Given the description of an element on the screen output the (x, y) to click on. 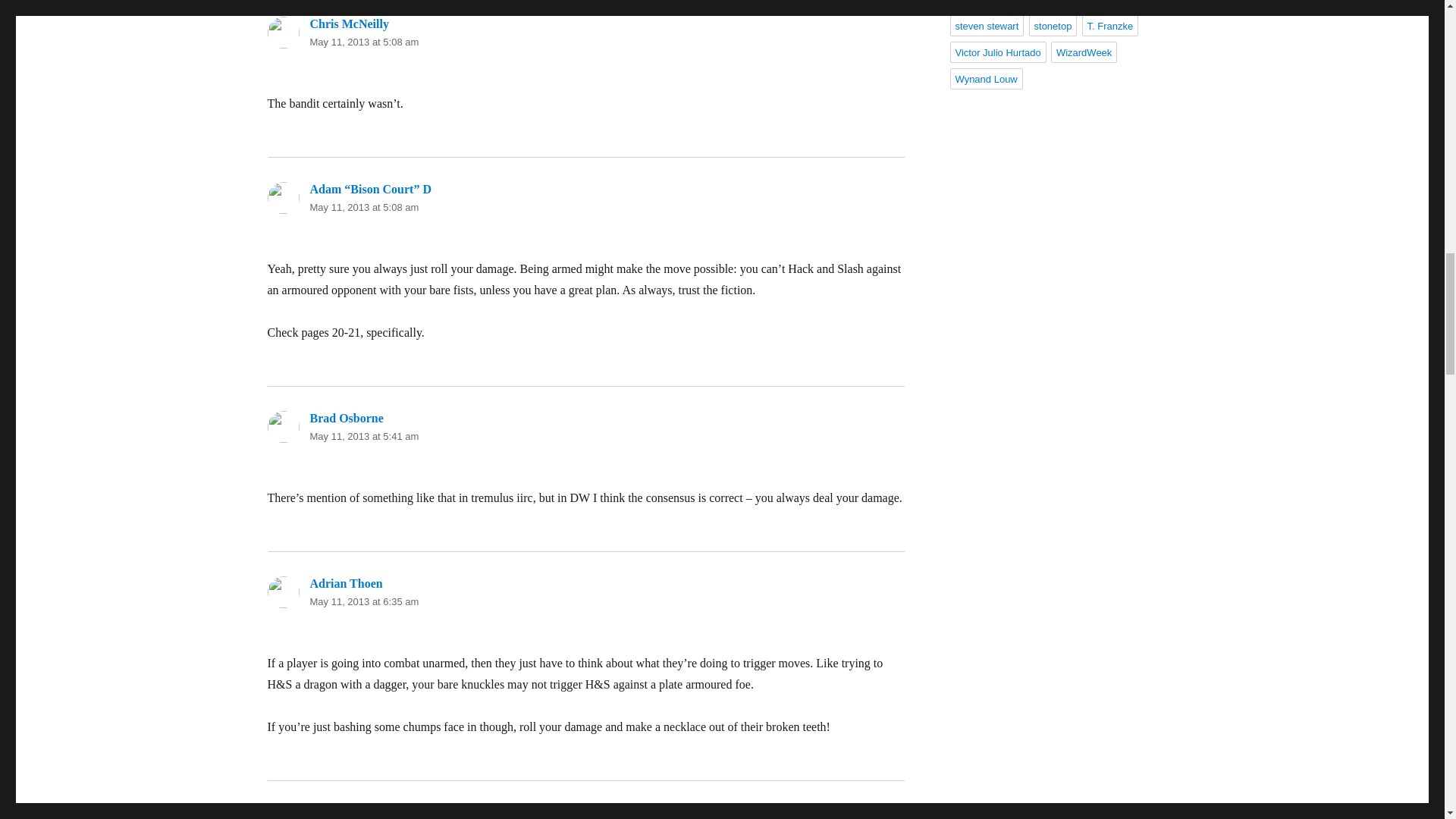
May 11, 2013 at 6:35 am (363, 601)
Chris McNeilly (348, 23)
Adrian Thoen (344, 583)
James Myers (342, 812)
Brad Osborne (345, 418)
May 11, 2013 at 5:08 am (363, 41)
May 11, 2013 at 5:41 am (363, 436)
May 11, 2013 at 5:08 am (363, 206)
